Given the description of an element on the screen output the (x, y) to click on. 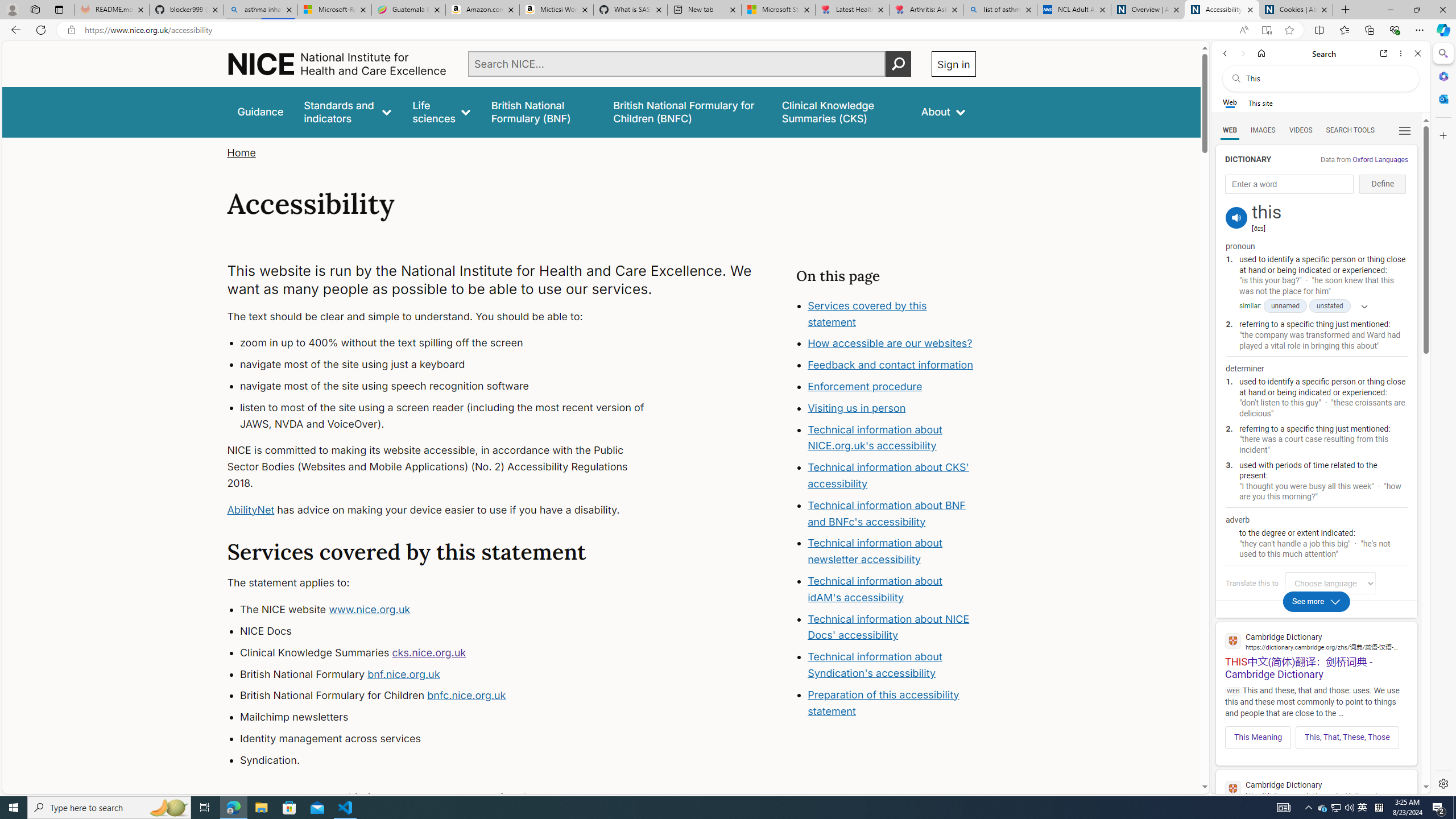
Define (1382, 184)
Open link in new tab (1383, 53)
This MeaningThis, That, These, Those (1315, 734)
Web scope (1230, 102)
pronounce (1236, 217)
Visiting us in person (891, 407)
